Given the description of an element on the screen output the (x, y) to click on. 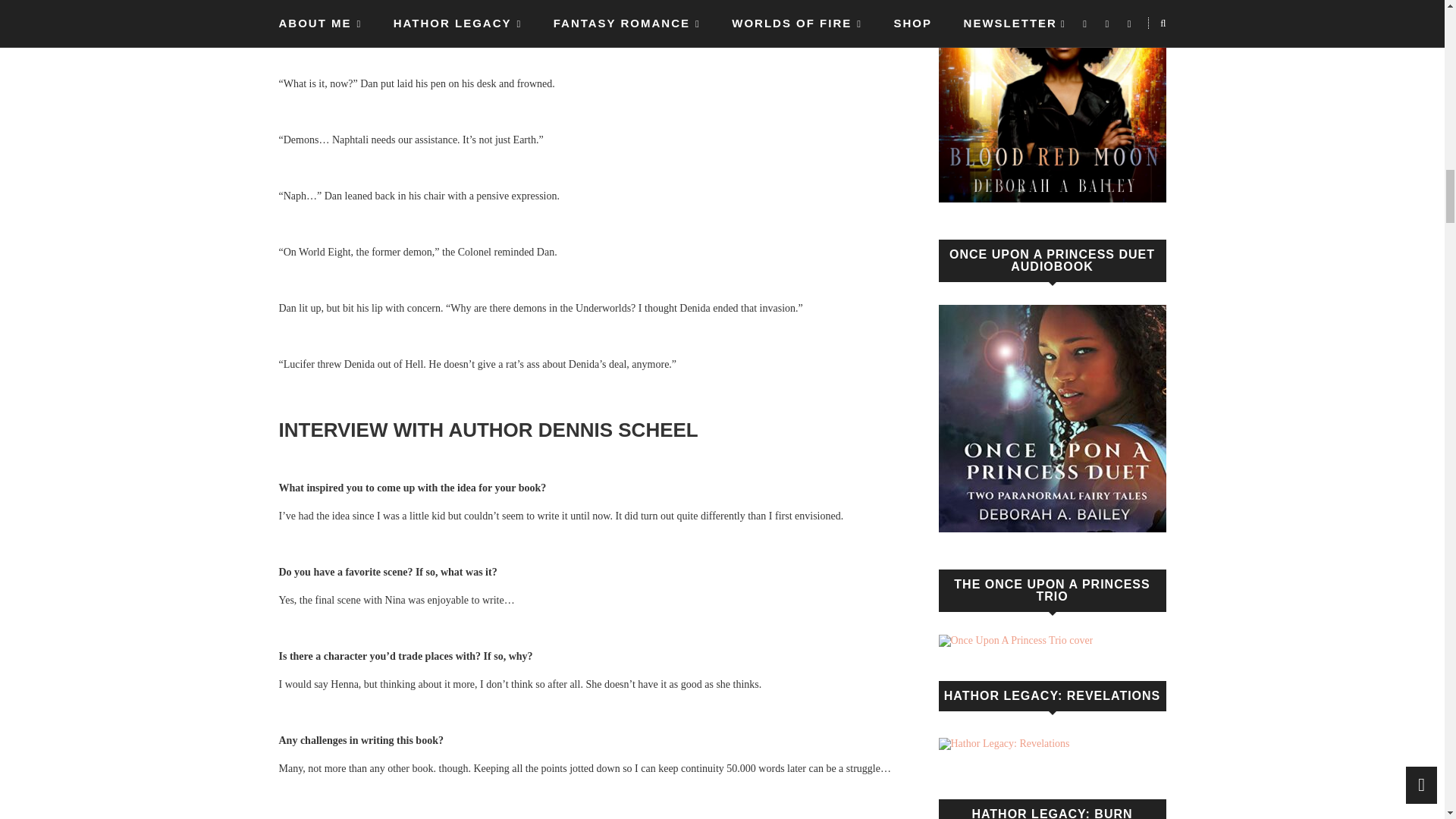
The Once Upon A Princess Trio (1016, 640)
Latest Release: Buy Worlds of Fire: Blood Red Moon (1052, 101)
